Given the description of an element on the screen output the (x, y) to click on. 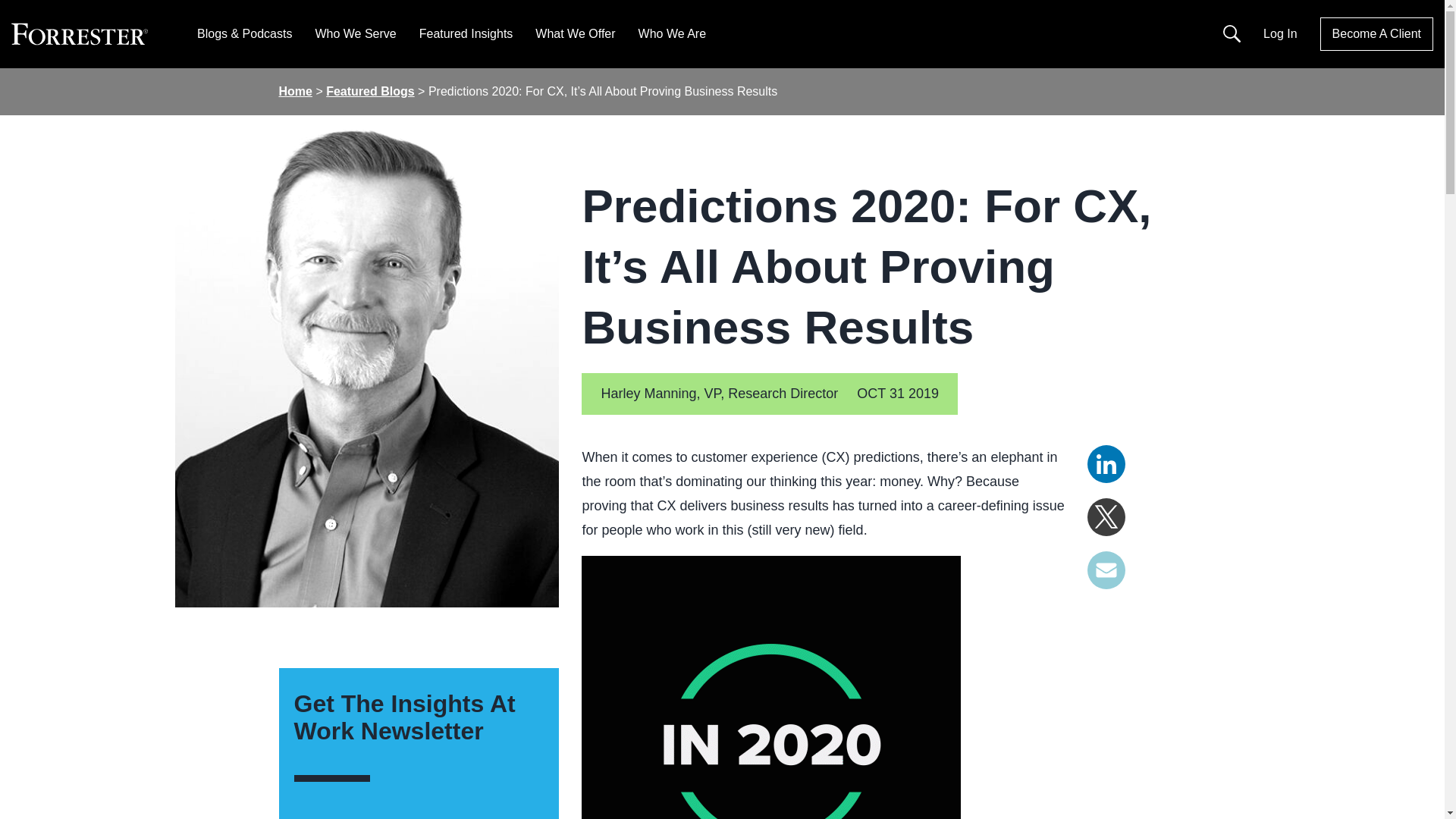
What We Offer (574, 33)
Who We Serve (355, 33)
Featured Insights (466, 33)
